Given the description of an element on the screen output the (x, y) to click on. 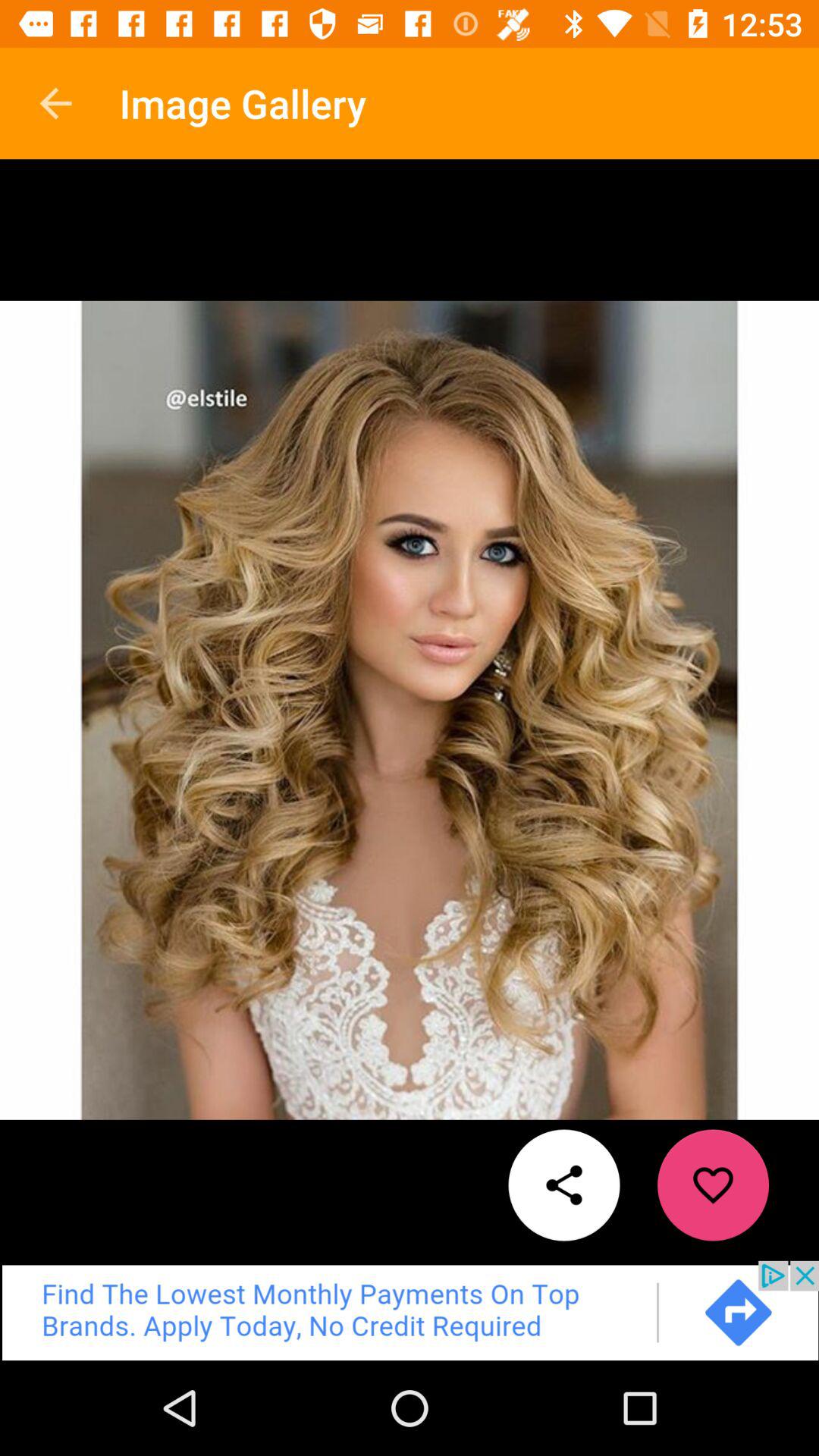
share image (563, 1185)
